Given the description of an element on the screen output the (x, y) to click on. 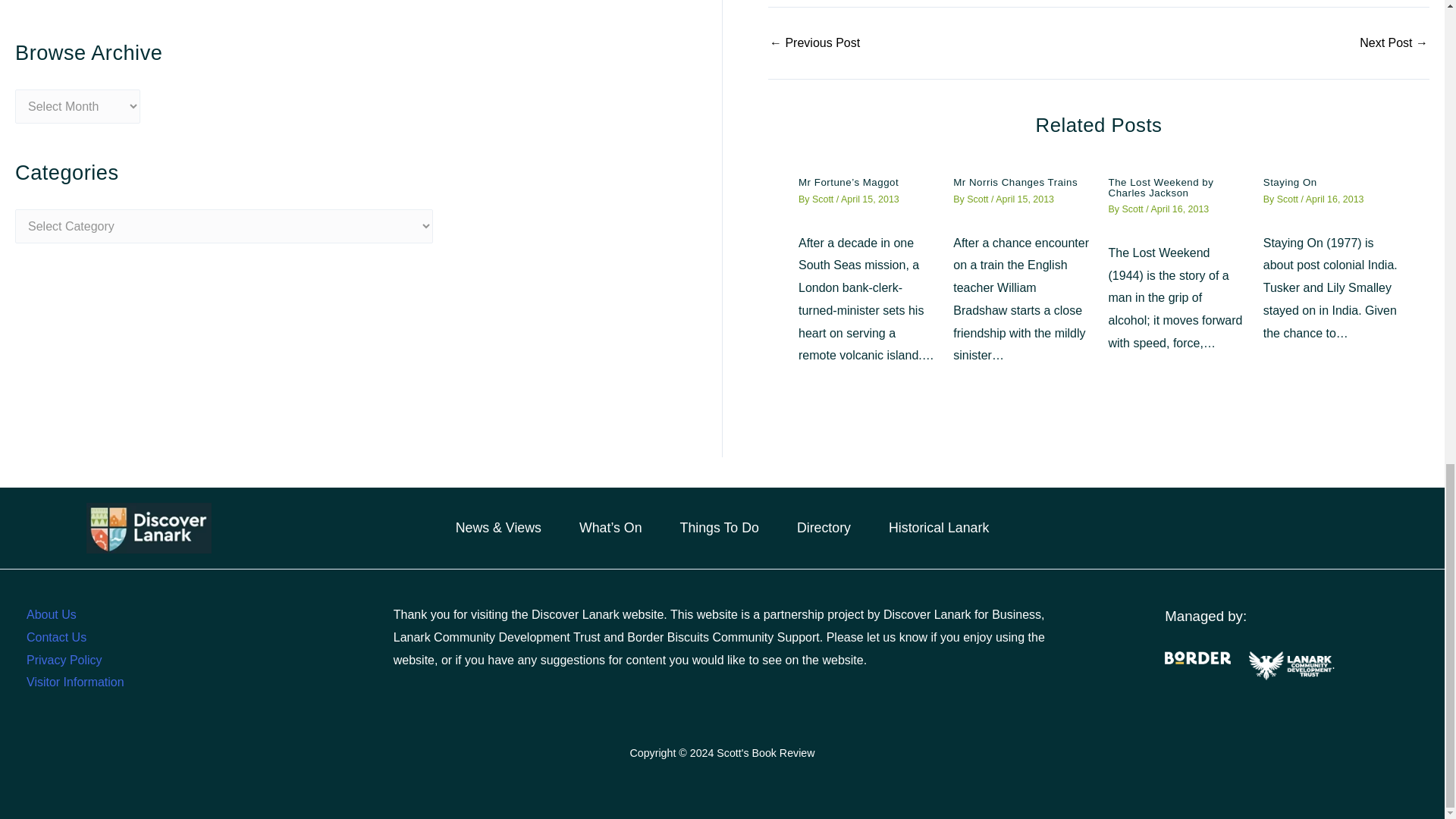
View all posts by Scott (823, 199)
Scott (1133, 208)
View all posts by Scott (1288, 199)
View all posts by Scott (1133, 208)
The Lost Weekend by Charles Jackson (1161, 187)
Mr Norris Changes Trains (1015, 182)
Scott (978, 199)
Scott (823, 199)
View all posts by Scott (978, 199)
The Whistler (1393, 42)
